Given the description of an element on the screen output the (x, y) to click on. 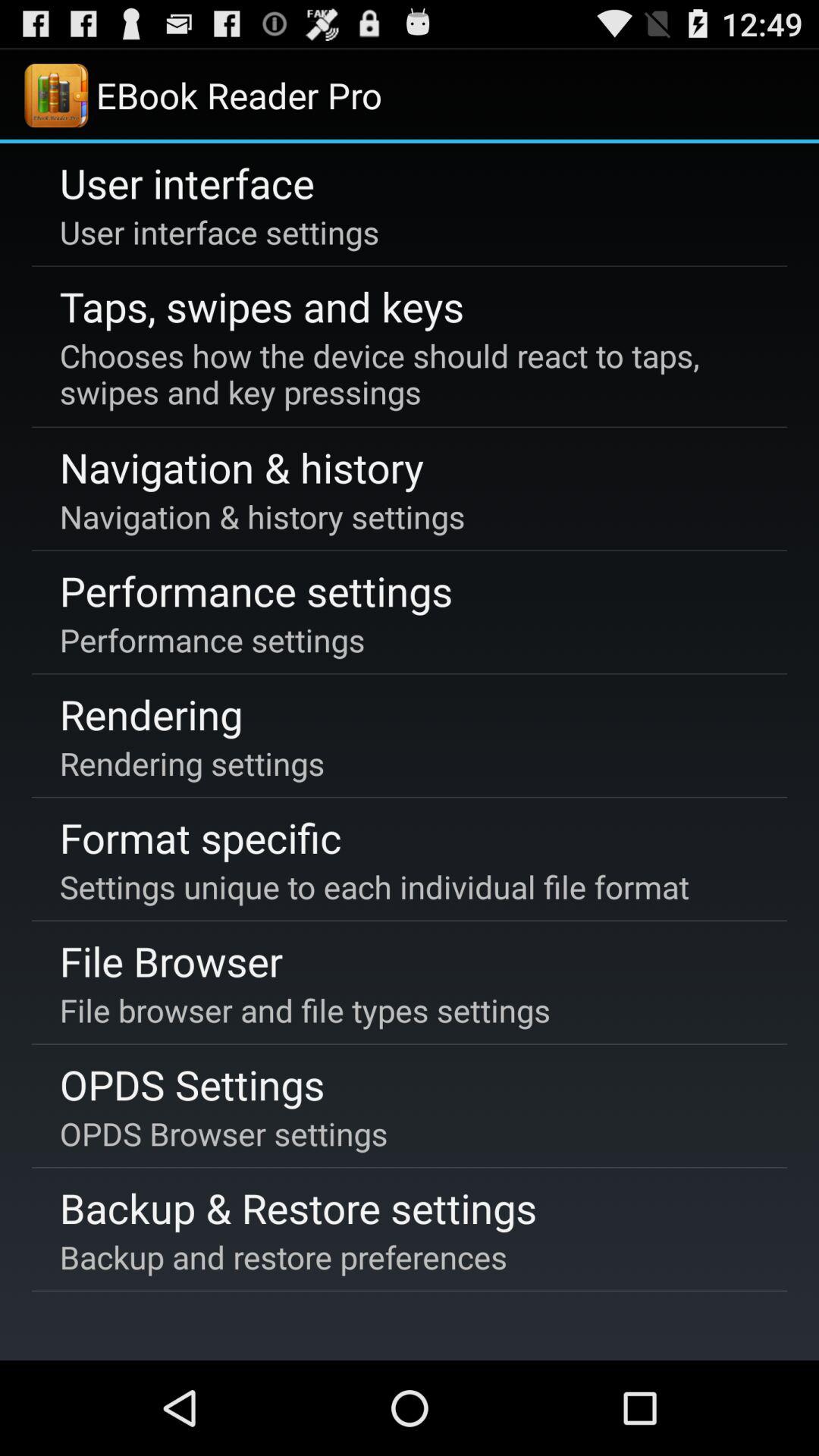
turn on the settings unique to (374, 886)
